Given the description of an element on the screen output the (x, y) to click on. 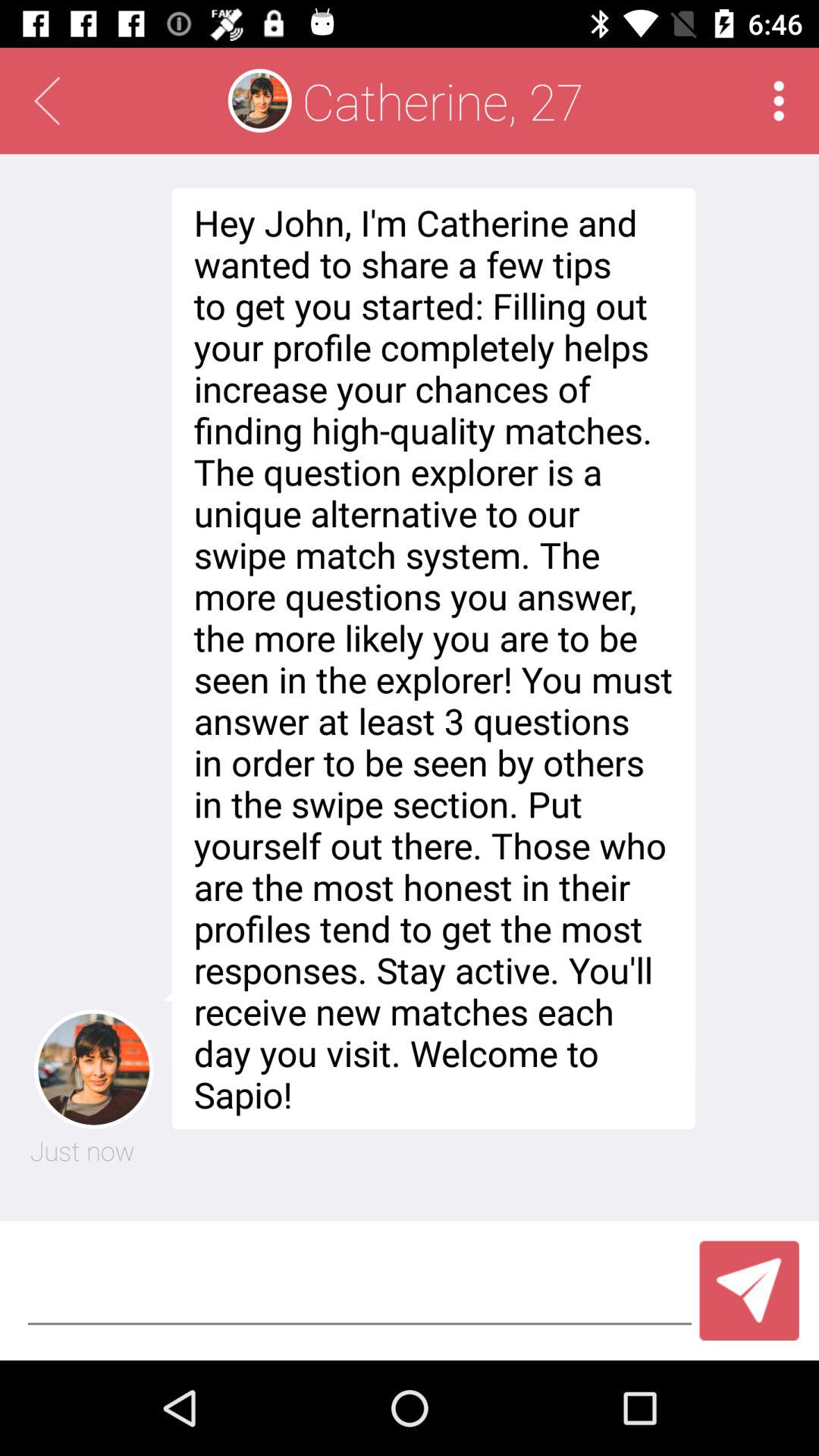
choose the icon at the bottom right corner (749, 1290)
